Given the description of an element on the screen output the (x, y) to click on. 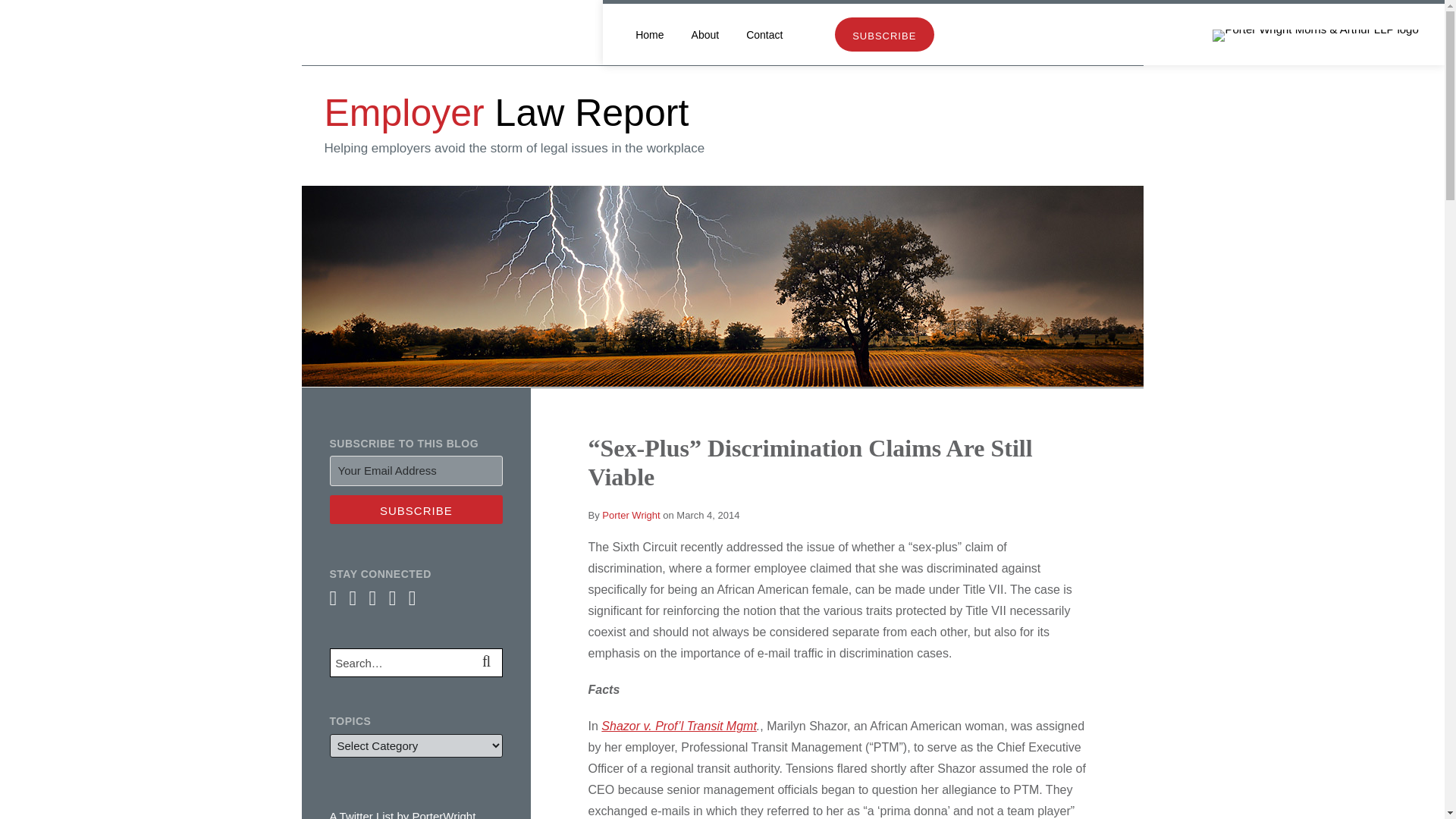
About (705, 34)
Home (648, 34)
A Twitter List by PorterWright (402, 814)
SUBSCRIBE (884, 34)
Porter Wright (630, 514)
Employer Law Report (506, 112)
Subscribe (415, 509)
Subscribe (415, 509)
Contact (764, 34)
SEARCH (488, 662)
